Given the description of an element on the screen output the (x, y) to click on. 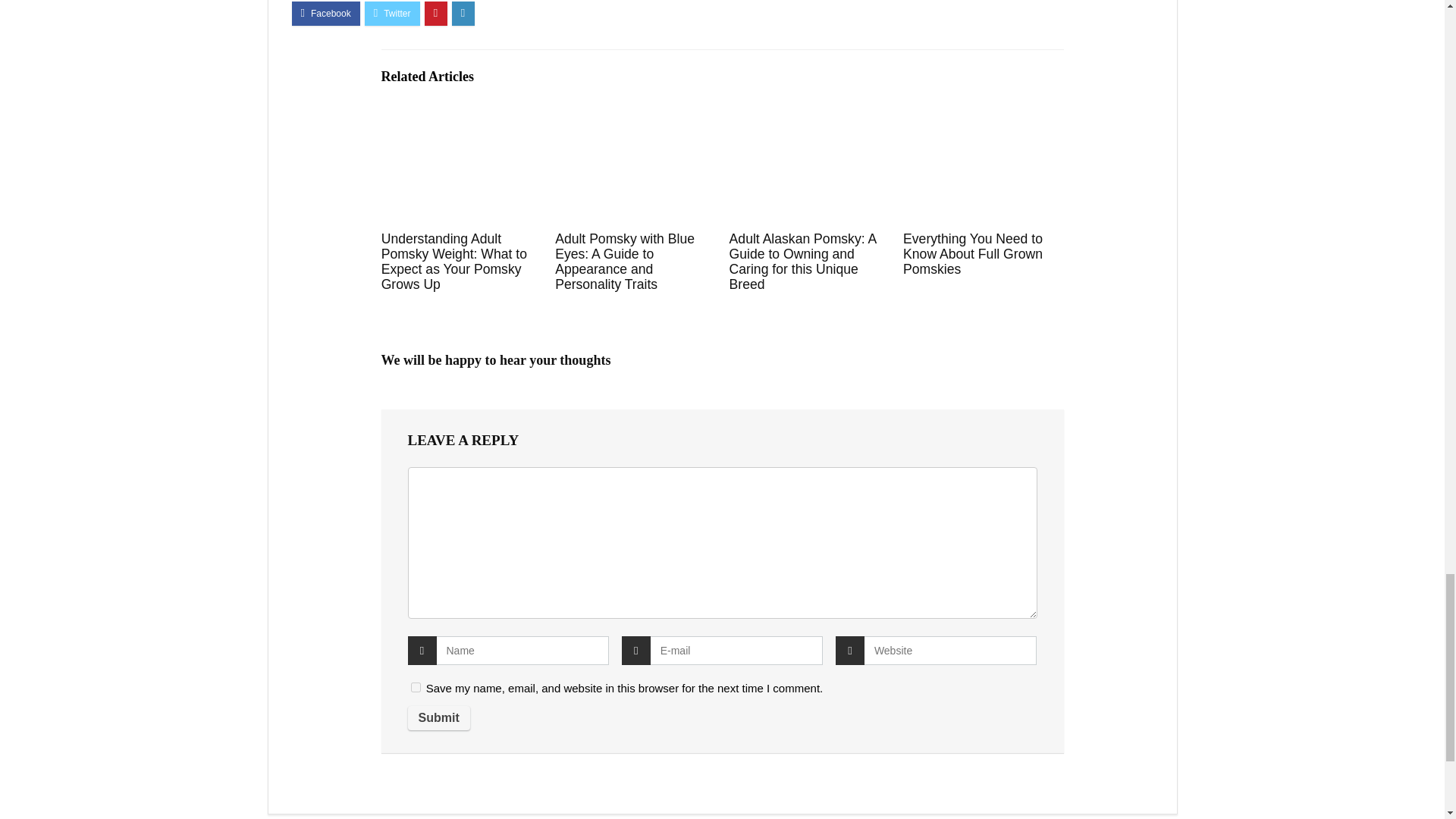
Submit (438, 717)
Everything You Need to Know About Full Grown Pomskies (972, 253)
yes (415, 687)
